Given the description of an element on the screen output the (x, y) to click on. 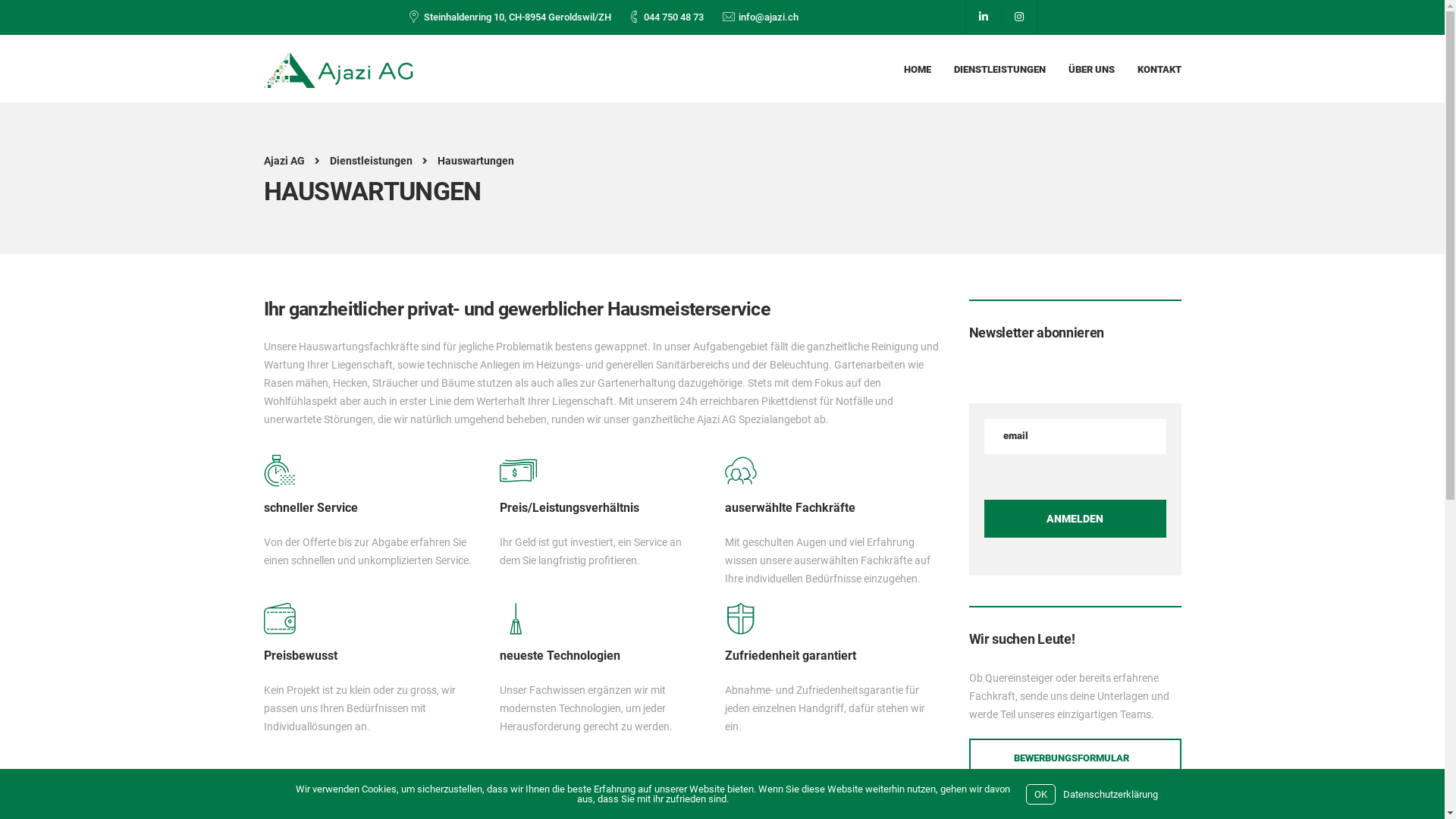
Dienstleistungen Element type: text (370, 160)
info@ajazi.ch Element type: text (768, 16)
BEWERBUNGSFORMULAR Element type: text (1075, 757)
OK Element type: text (1039, 794)
KONTAKT Element type: text (1159, 68)
Ajazi AG Element type: text (283, 160)
HOME Element type: text (917, 68)
044 750 48 73 Element type: text (672, 16)
ANMELDEN Element type: text (1075, 518)
DIENSTLEISTUNGEN Element type: text (999, 68)
